Given the description of an element on the screen output the (x, y) to click on. 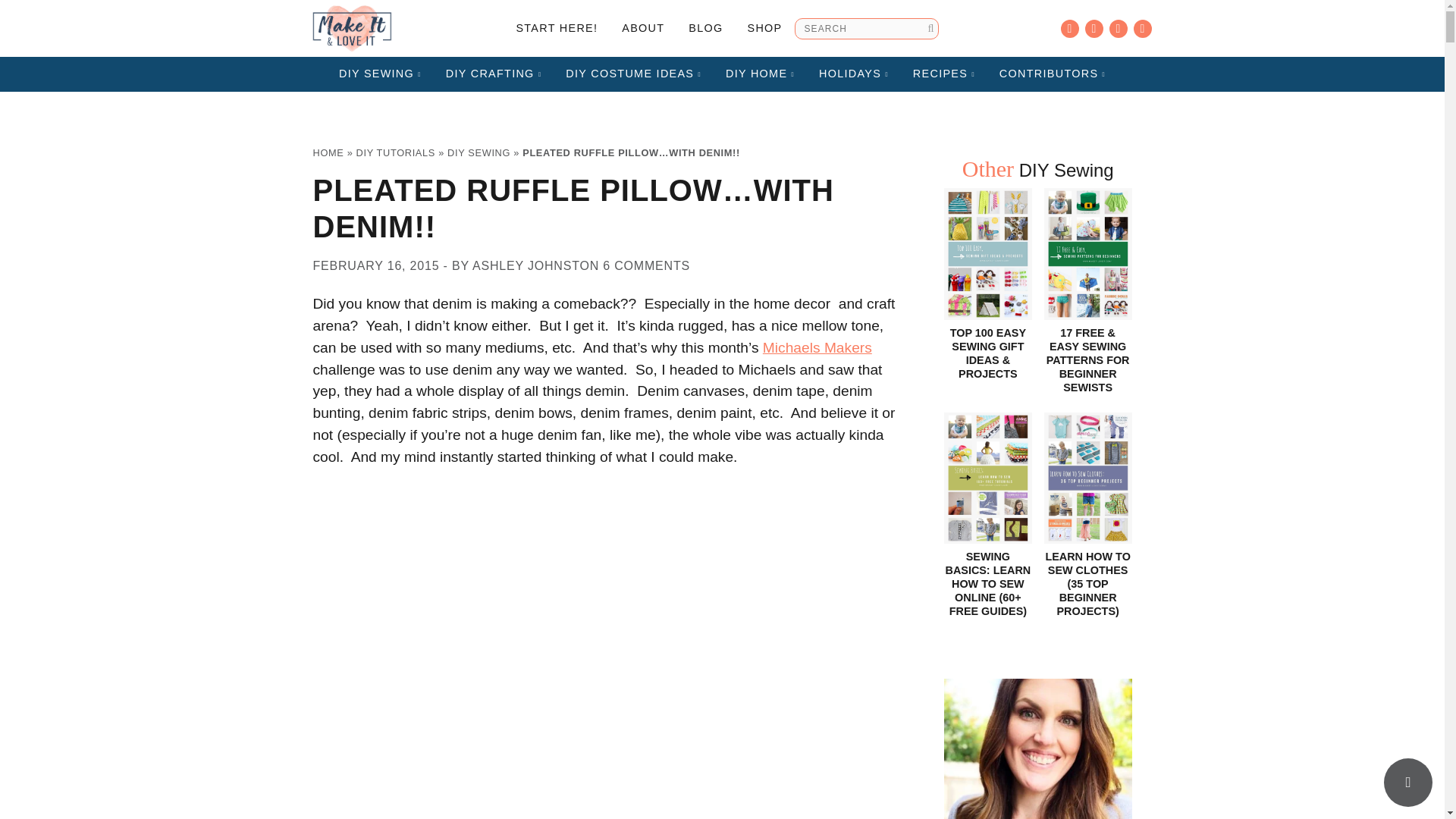
DIY CRAFTING (493, 73)
DIY SEWING (379, 73)
START HERE! (556, 28)
BLOG (706, 28)
ABOUT (643, 28)
Twitter (1141, 28)
SHOP (764, 28)
DIY COSTUME IDEAS (633, 73)
Pinterest (1117, 28)
Instagram (1093, 28)
